Given the description of an element on the screen output the (x, y) to click on. 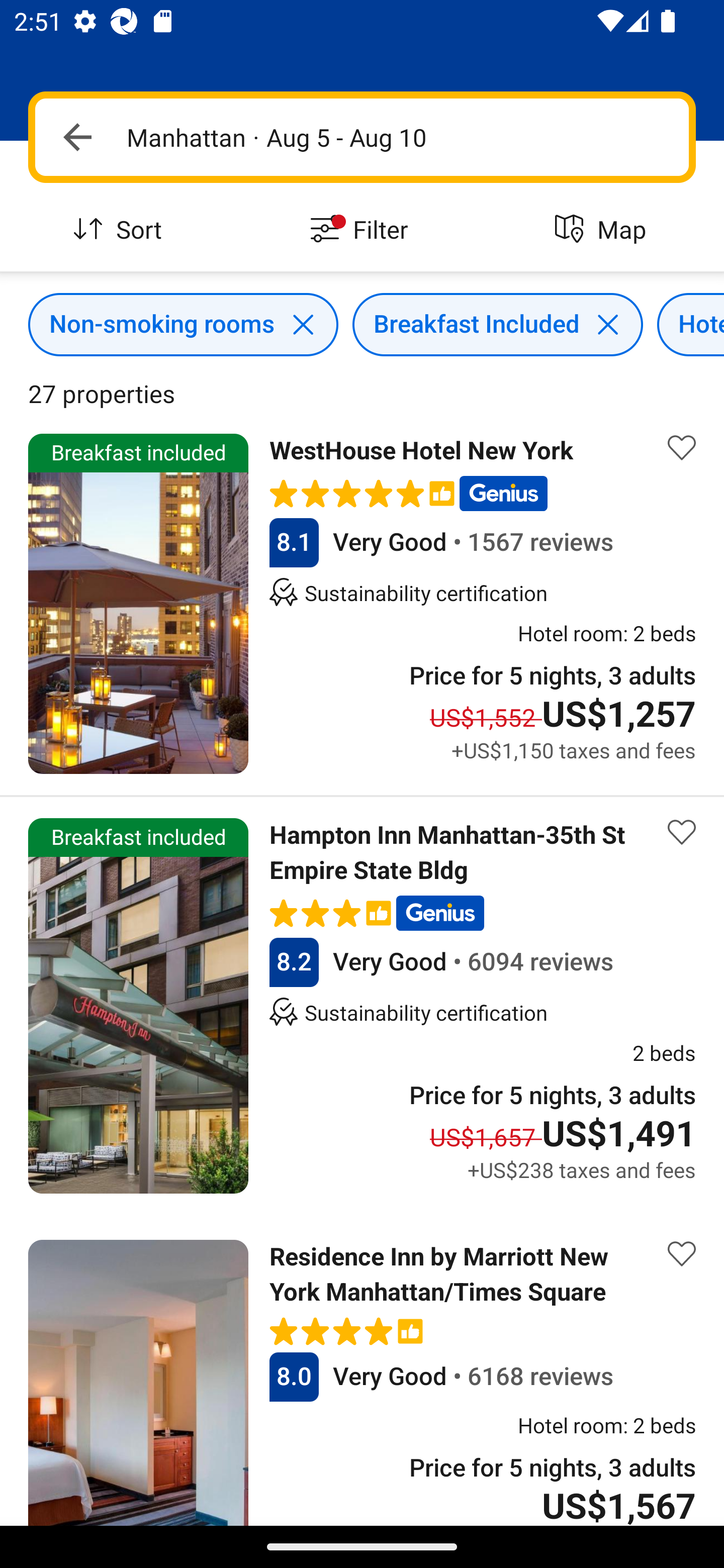
Navigate up Manhattan · Aug 5 - Aug 10 (362, 136)
Navigate up (77, 136)
Sort (120, 230)
Filter (361, 230)
Map (603, 230)
Save property to list (681, 447)
Save property to list (681, 832)
Save property to list (681, 1254)
